Given the description of an element on the screen output the (x, y) to click on. 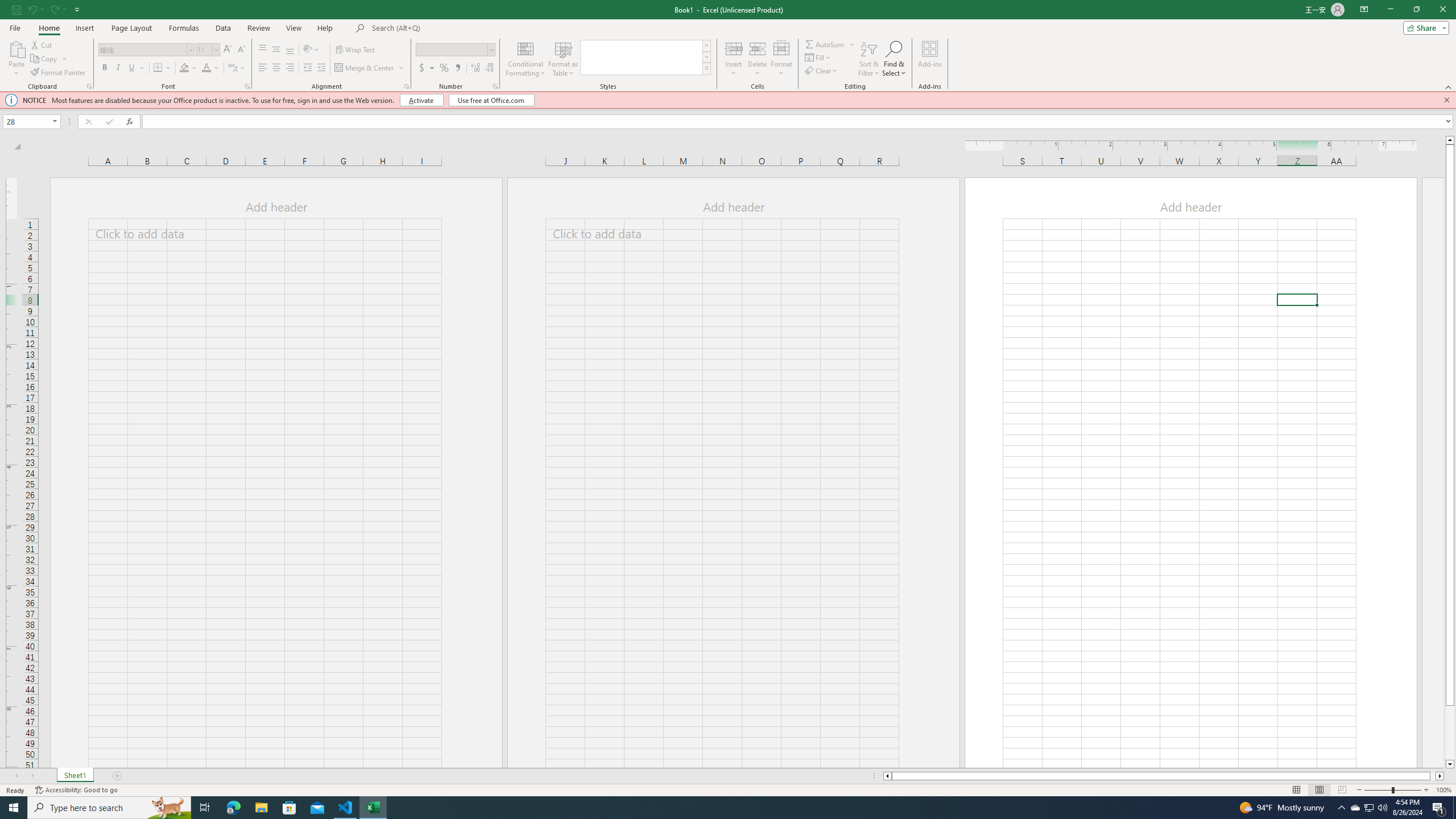
Conditional Formatting (525, 58)
Copy (49, 58)
Align Right (290, 67)
Increase Decimal (474, 67)
Percent Style (443, 67)
Top Align (262, 49)
Comma Style (457, 67)
Office Clipboard... (88, 85)
Underline (131, 67)
